Given the description of an element on the screen output the (x, y) to click on. 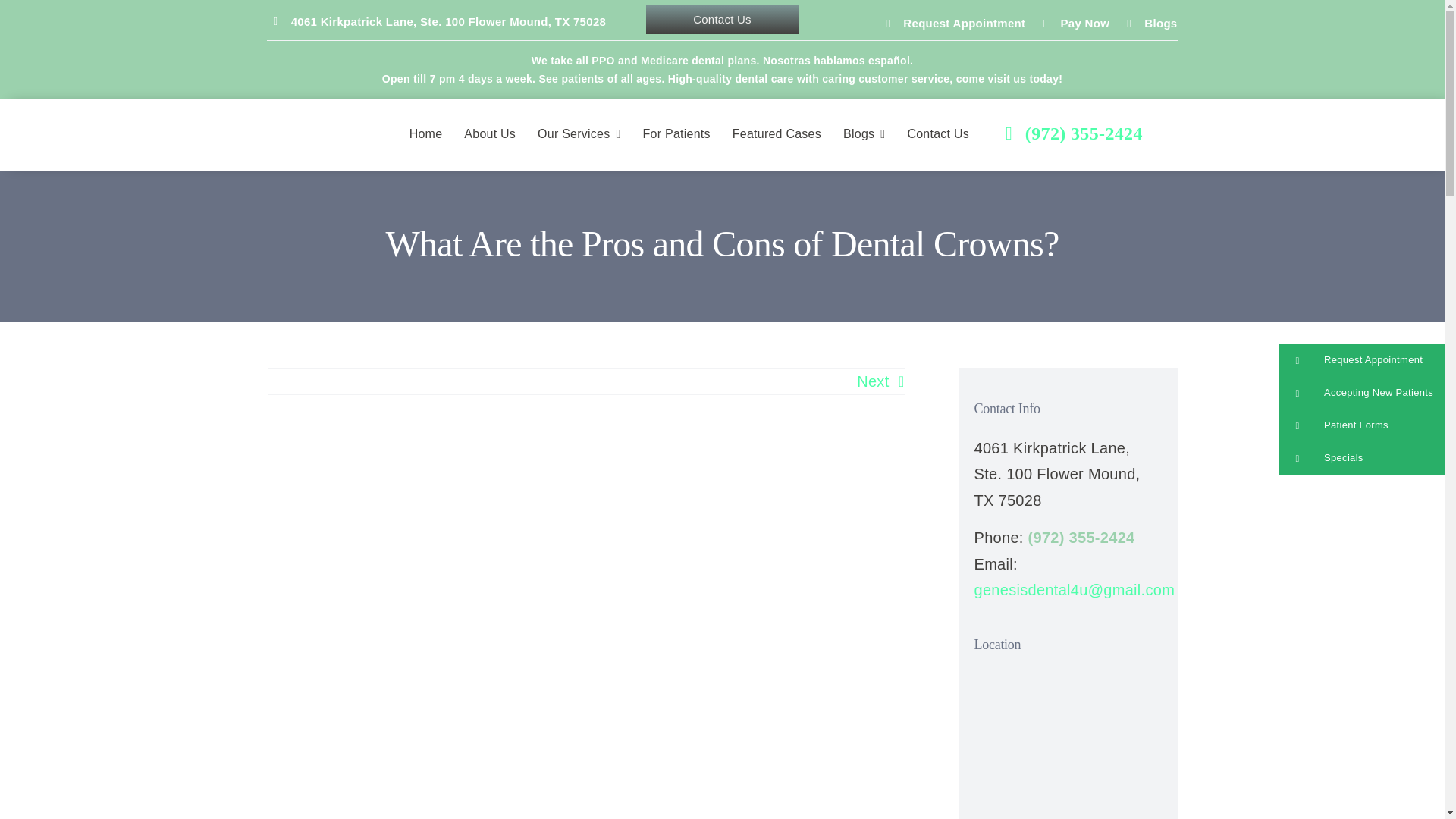
Home (425, 133)
Pay Now (1085, 22)
Blogs (1160, 22)
Blogs (864, 133)
For Patients (676, 133)
Our Services (578, 133)
Featured Cases (776, 133)
call now (1074, 133)
Request Appointment (963, 22)
Contact Us (722, 19)
